Given the description of an element on the screen output the (x, y) to click on. 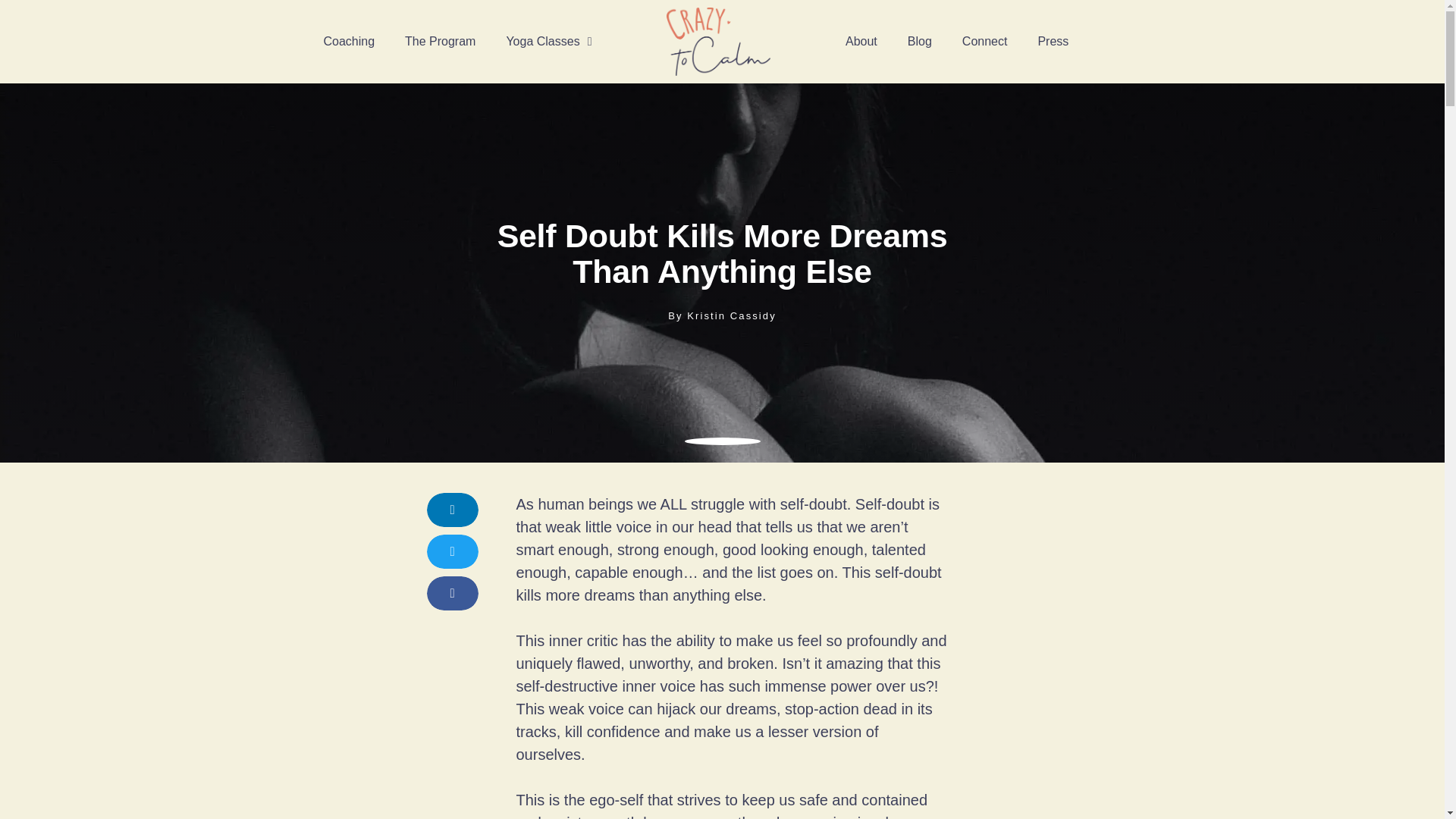
The Program (440, 41)
About (860, 41)
Yoga Classes (548, 41)
Blog (919, 41)
Connect (985, 41)
Coaching (348, 41)
By Kristin Cassidy (722, 315)
Press (1052, 41)
